Given the description of an element on the screen output the (x, y) to click on. 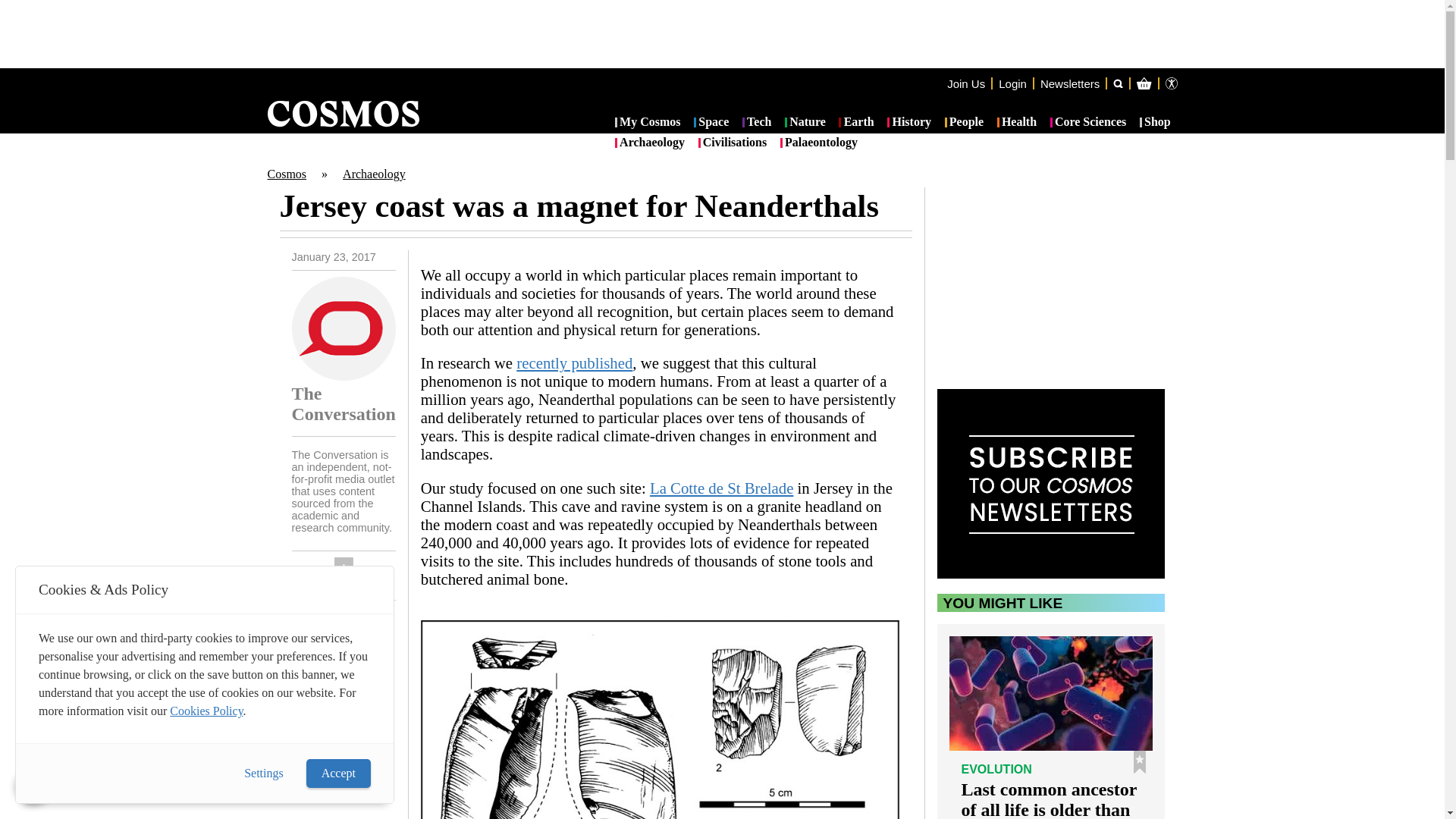
Shop (1155, 122)
Palaeontology (818, 143)
Login (1012, 82)
recently published (573, 362)
History (908, 122)
Nature (804, 122)
Earth (855, 122)
Cosmos (285, 173)
My Cosmos (647, 122)
Newsletters (1070, 82)
Tech (756, 122)
Cart (1223, 144)
People (964, 122)
Core Sciences (1087, 122)
Accessibility Tools (1170, 82)
